Given the description of an element on the screen output the (x, y) to click on. 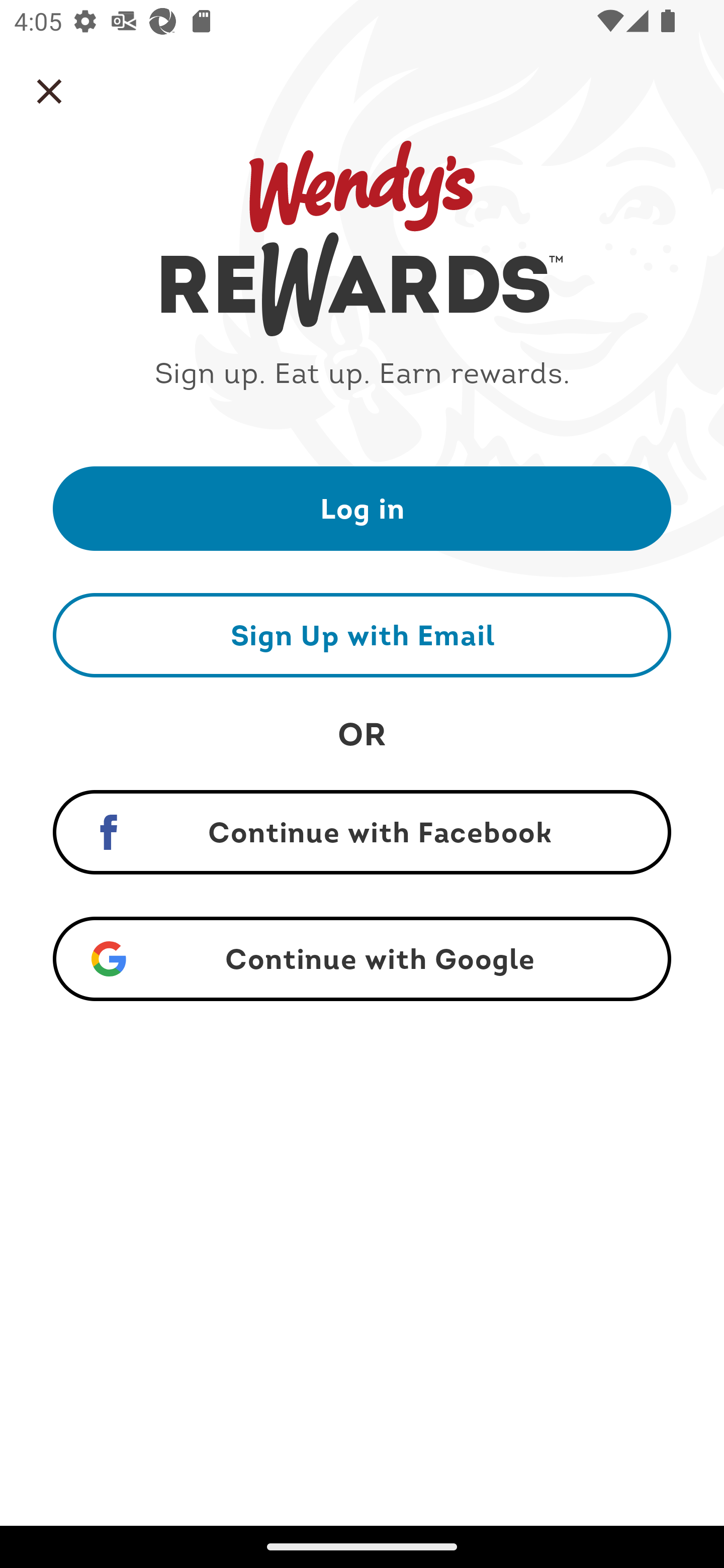
close (49, 91)
Log in (361, 507)
Sign Up with Email (361, 634)
Continue with Facebook (361, 832)
Continue with Google (361, 958)
